Given the description of an element on the screen output the (x, y) to click on. 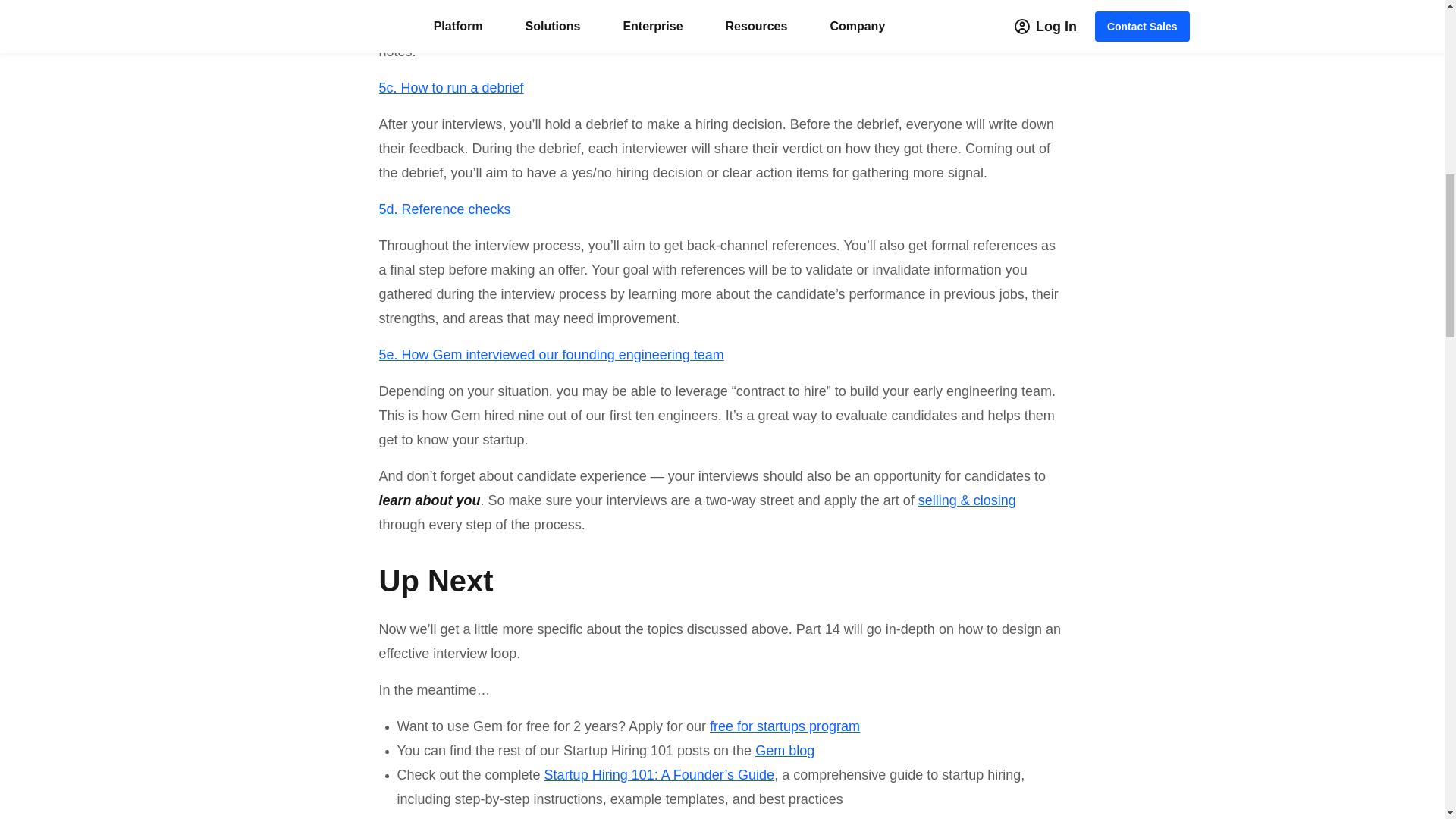
5d. Reference checks (444, 209)
Gem blog (784, 750)
5e. How Gem interviewed our founding engineering team (550, 354)
free for startups program (783, 726)
5c. How to run a debrief (451, 87)
